Given the description of an element on the screen output the (x, y) to click on. 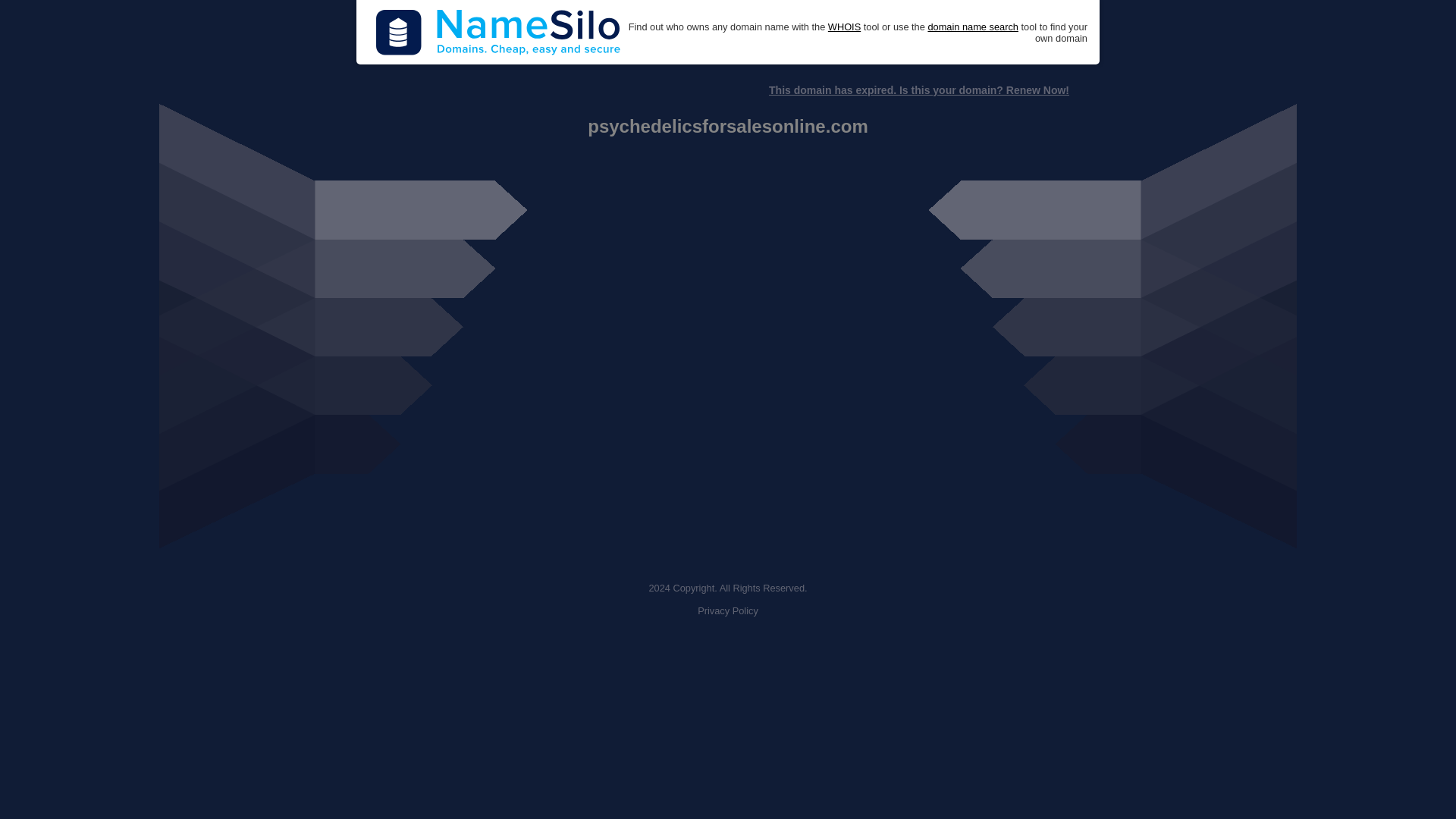
Privacy Policy (727, 610)
WHOIS (844, 26)
This domain has expired. Is this your domain? Renew Now! (918, 90)
domain name search (972, 26)
